Given the description of an element on the screen output the (x, y) to click on. 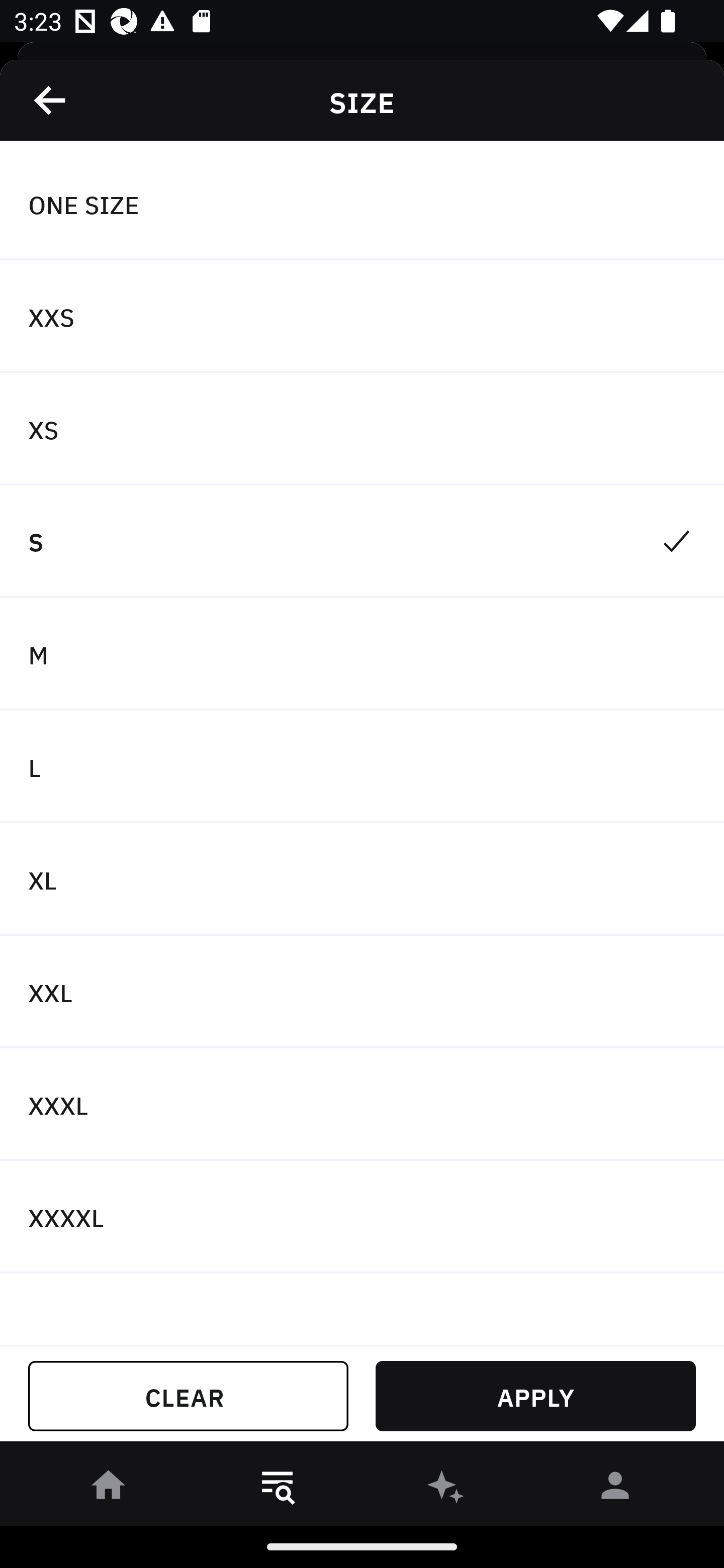
 (50, 100)
ONE SIZE (362, 203)
XXS (362, 316)
XS (362, 429)
S  (362, 541)
M (362, 653)
L (362, 766)
XL (362, 879)
XXL (362, 992)
XXXL (362, 1104)
XXXXL (362, 1216)
CLEAR  (188, 1396)
APPLY (535, 1396)
󰋜 (108, 1488)
󱎸 (277, 1488)
󰫢 (446, 1488)
󰀄 (615, 1488)
